Given the description of an element on the screen output the (x, y) to click on. 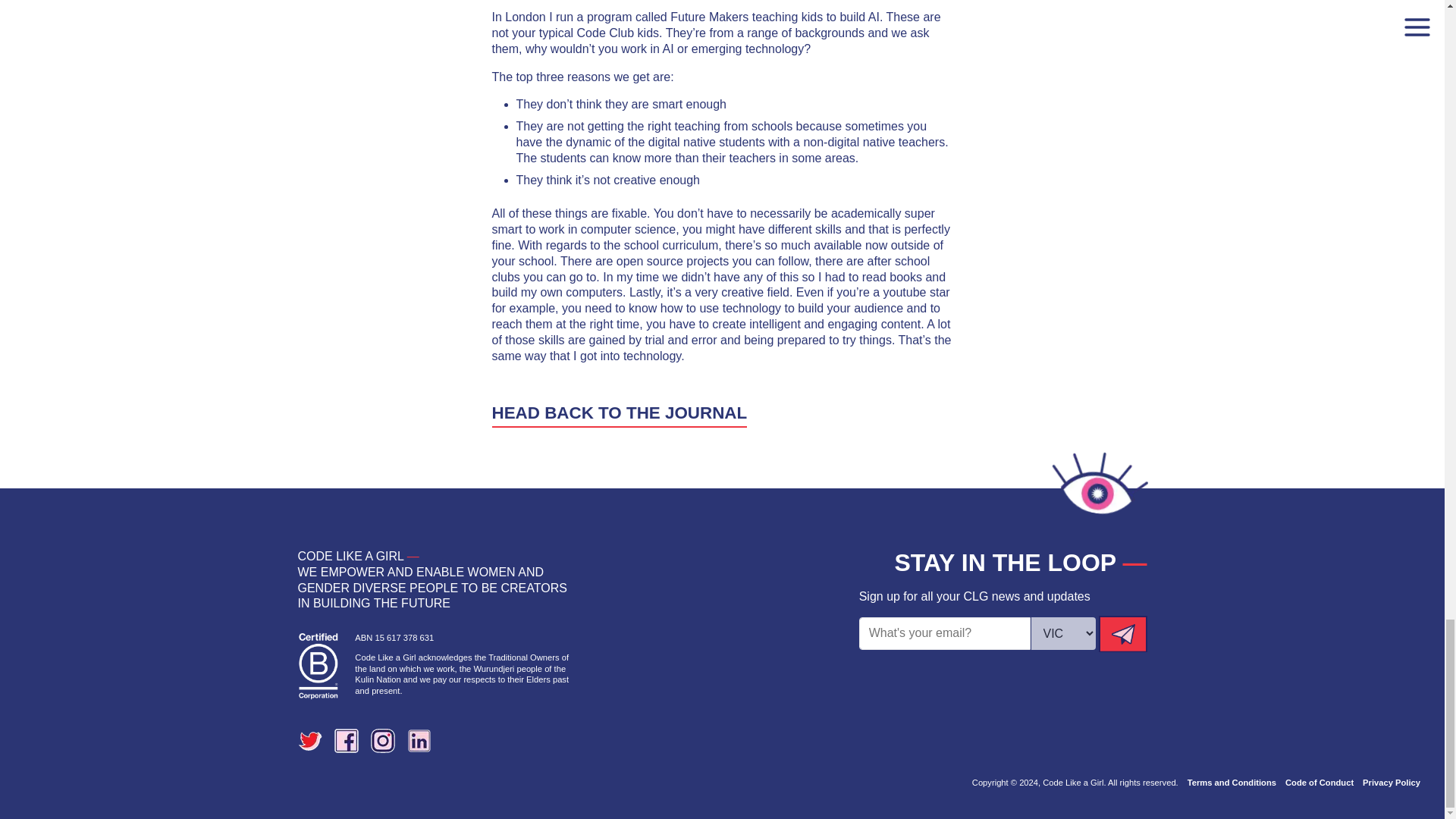
Privacy Policy (1391, 782)
Terms and Conditions (1232, 782)
HEAD BACK TO THE JOURNAL (619, 413)
Code of Conduct (1319, 782)
